Given the description of an element on the screen output the (x, y) to click on. 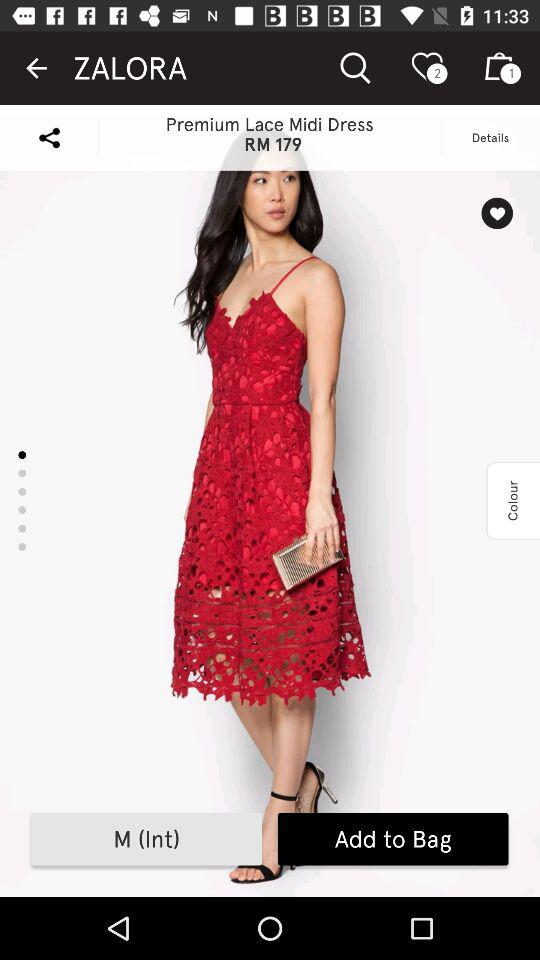
favorite the item (496, 213)
